Given the description of an element on the screen output the (x, y) to click on. 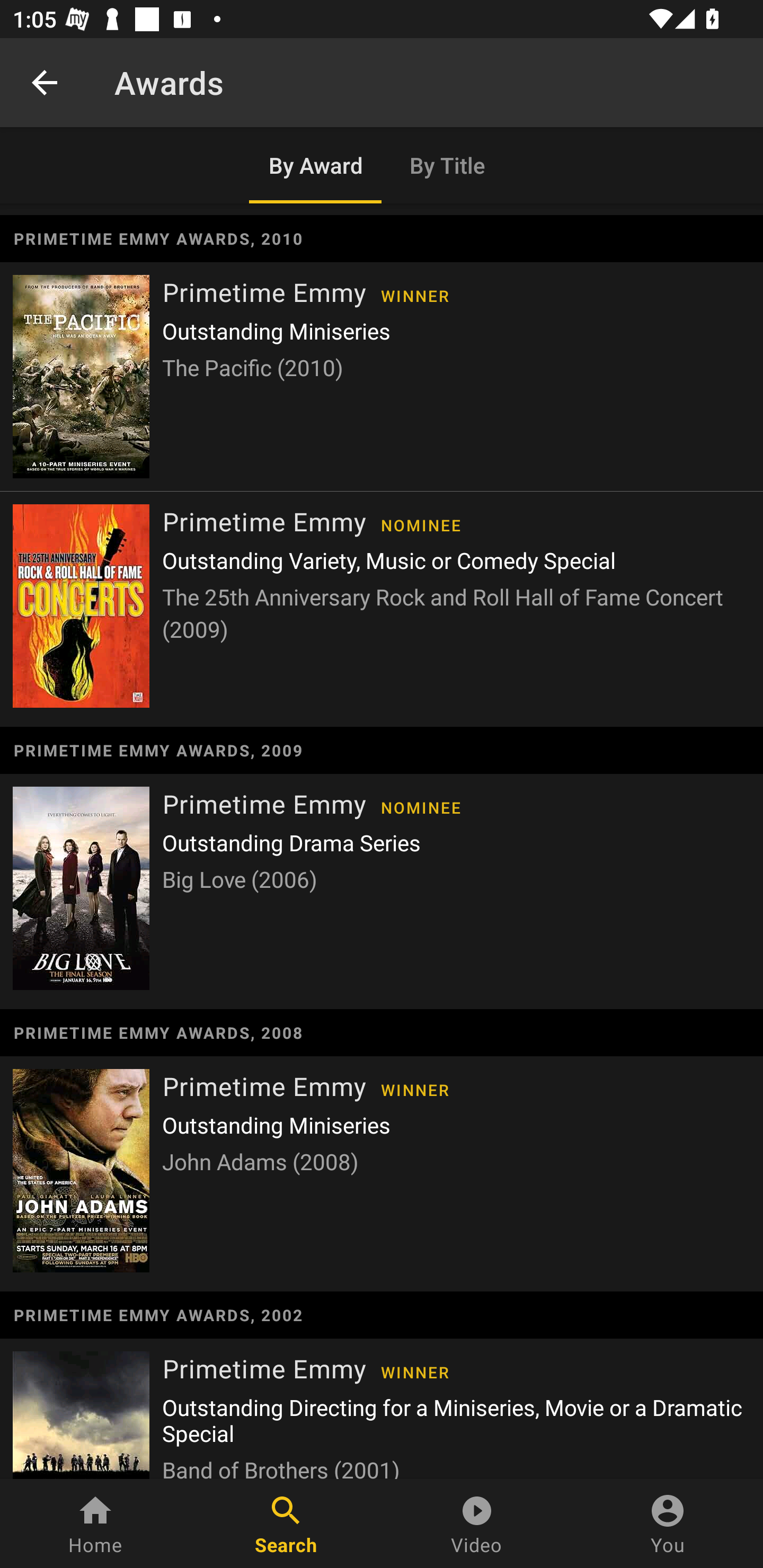
By Title (447, 165)
Home (95, 1523)
Video (476, 1523)
You (667, 1523)
